Given the description of an element on the screen output the (x, y) to click on. 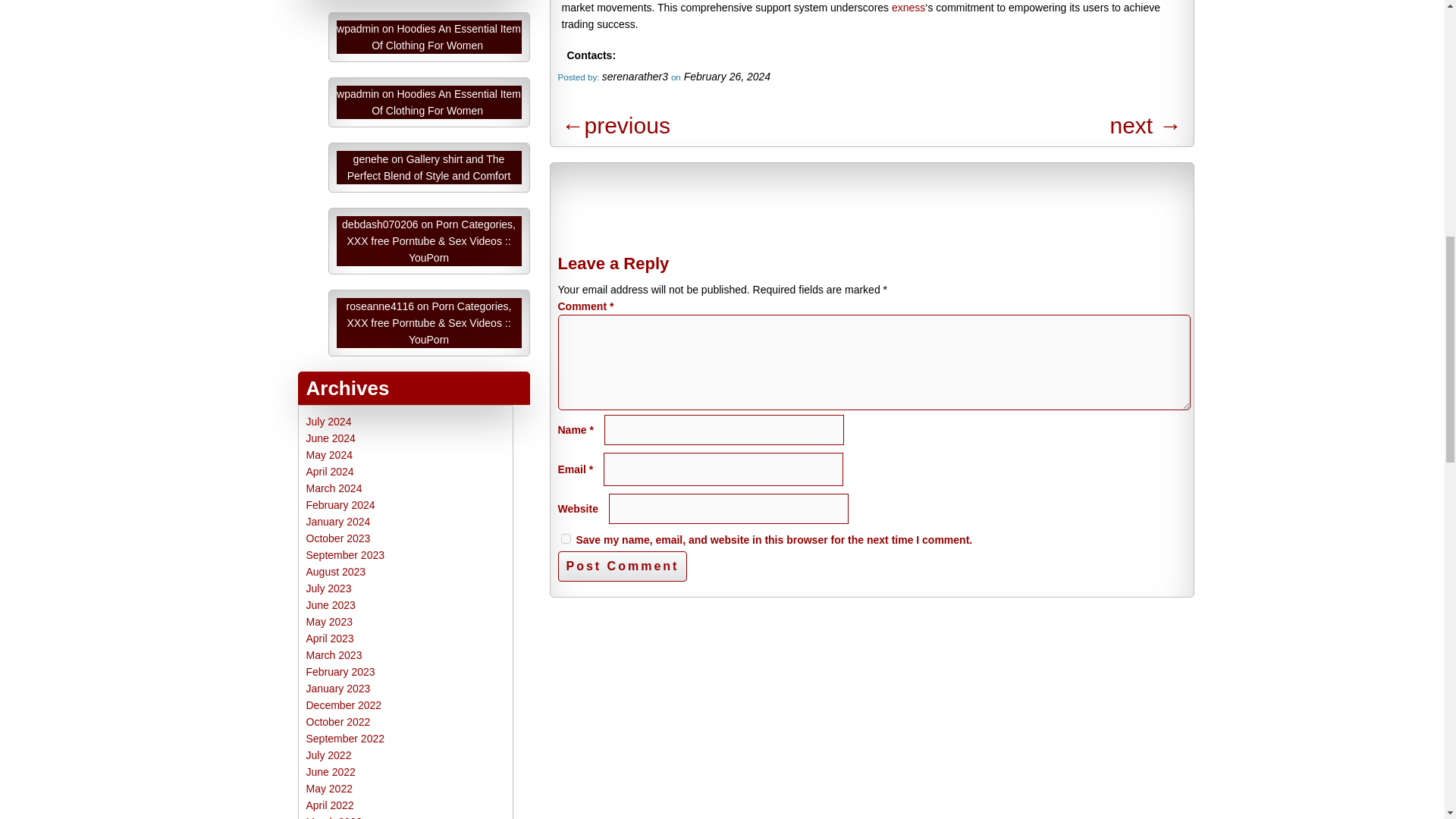
exness (907, 7)
Hoodies An Essential Item Of Clothing For Women  (446, 36)
debdash070206 (379, 224)
Post Comment (622, 566)
Post Comment (622, 566)
April 2024 (329, 471)
wpadmin (357, 28)
wpadmin (357, 93)
yes (565, 538)
July 2024 (328, 421)
genehe (370, 159)
March 2024 (333, 488)
May 2024 (328, 454)
Gallery shirt and The Perfect Blend of Style and Comfort (429, 167)
June 2024 (330, 438)
